Given the description of an element on the screen output the (x, y) to click on. 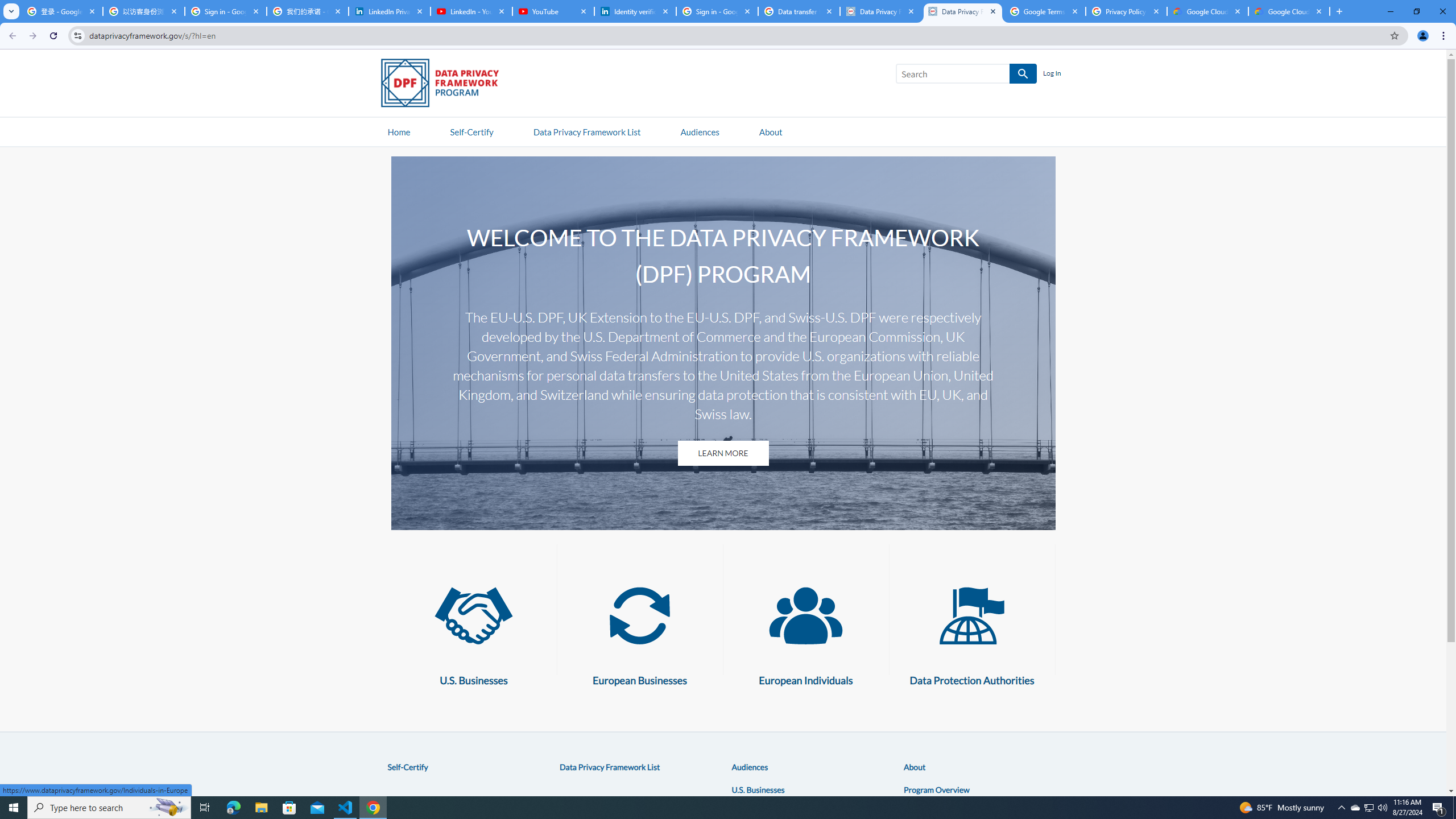
European Businesses European Businesses (639, 630)
Data Privacy Framework (963, 11)
U.S. Businesses (757, 789)
Home (398, 131)
LinkedIn Privacy Policy (389, 11)
